Given the description of an element on the screen output the (x, y) to click on. 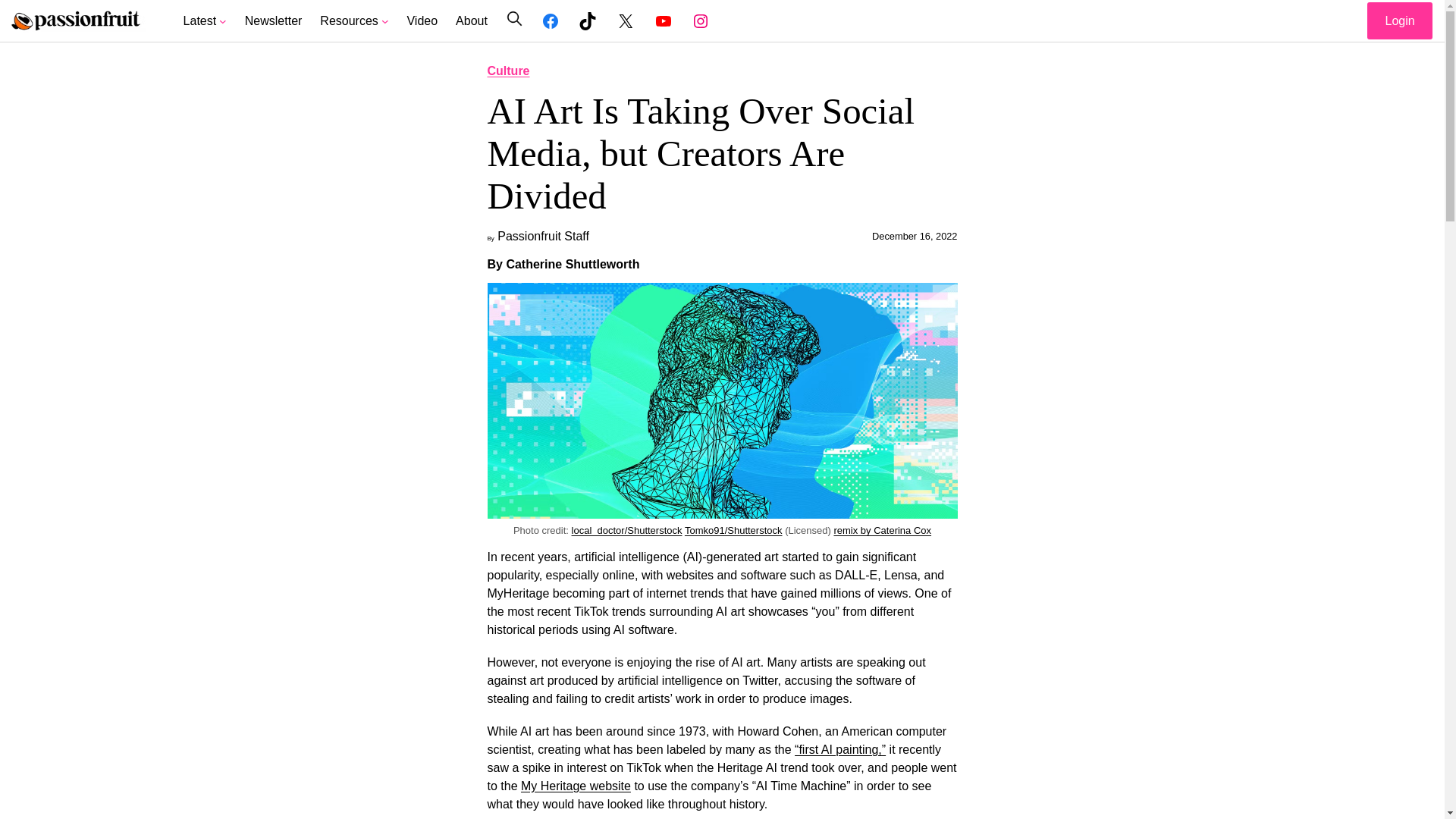
Newsletter (273, 21)
My Heritage website (575, 785)
Video (422, 21)
Culture (507, 70)
Instagram (700, 21)
remix by Caterina Cox (881, 530)
YouTube (662, 21)
Latest (199, 21)
Resources (348, 21)
Login (1399, 20)
